Given the description of an element on the screen output the (x, y) to click on. 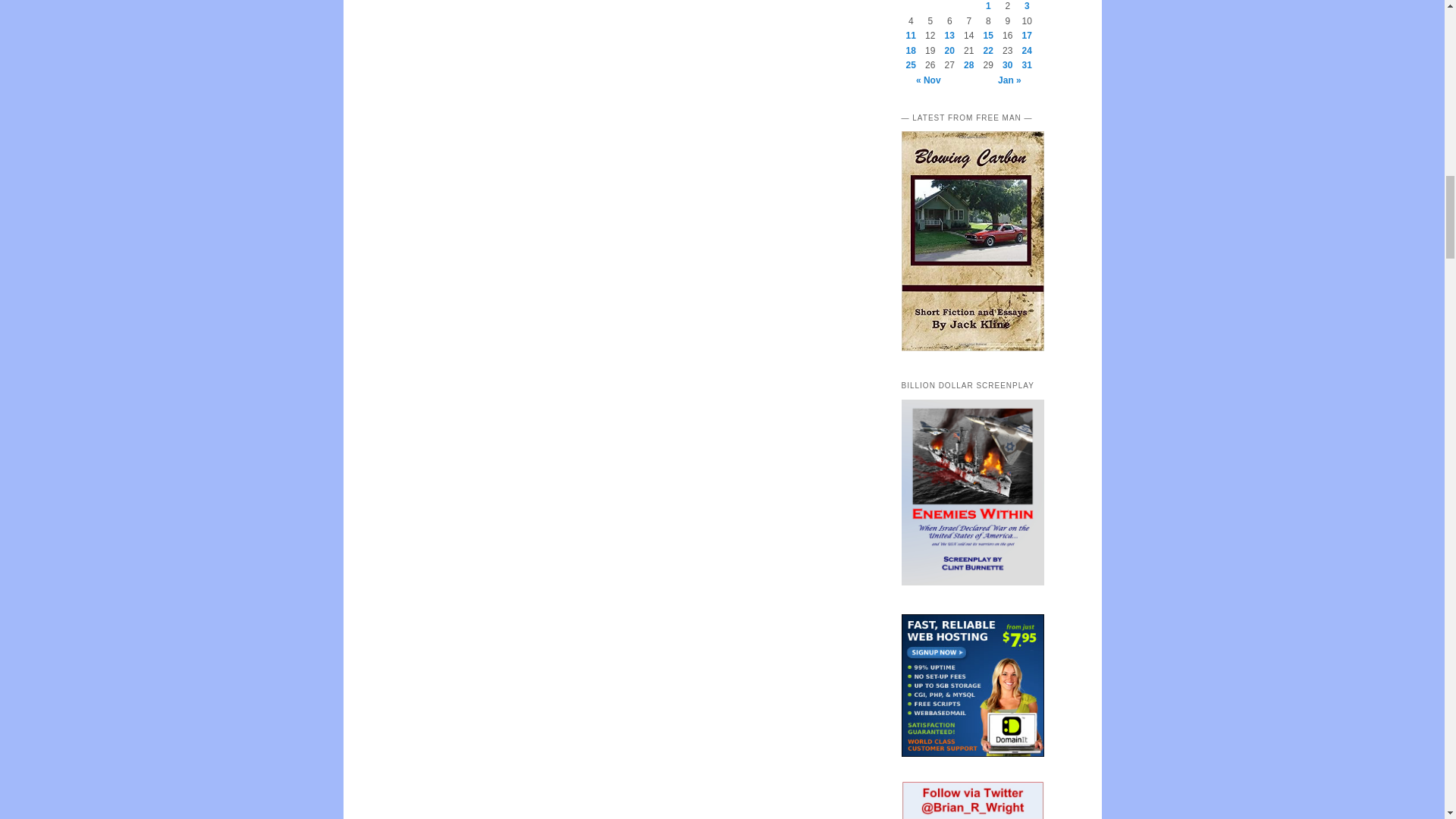
Fast, Reliable Web Hosting (972, 685)
